Given the description of an element on the screen output the (x, y) to click on. 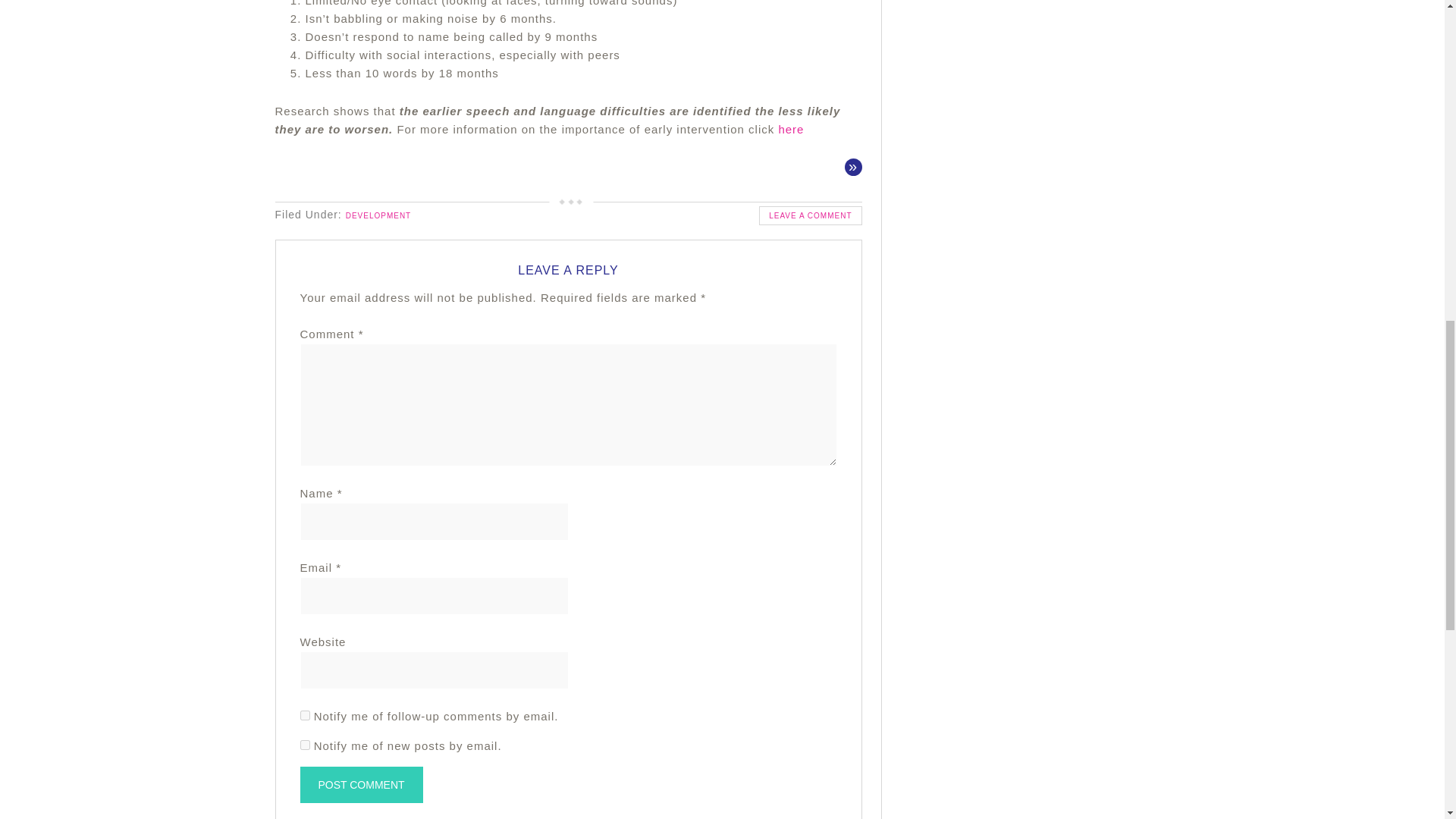
LEAVE A COMMENT (809, 215)
DEVELOPMENT (379, 215)
Post Comment (361, 784)
subscribe (304, 745)
here (790, 128)
subscribe (304, 715)
Post Comment (361, 784)
